Given the description of an element on the screen output the (x, y) to click on. 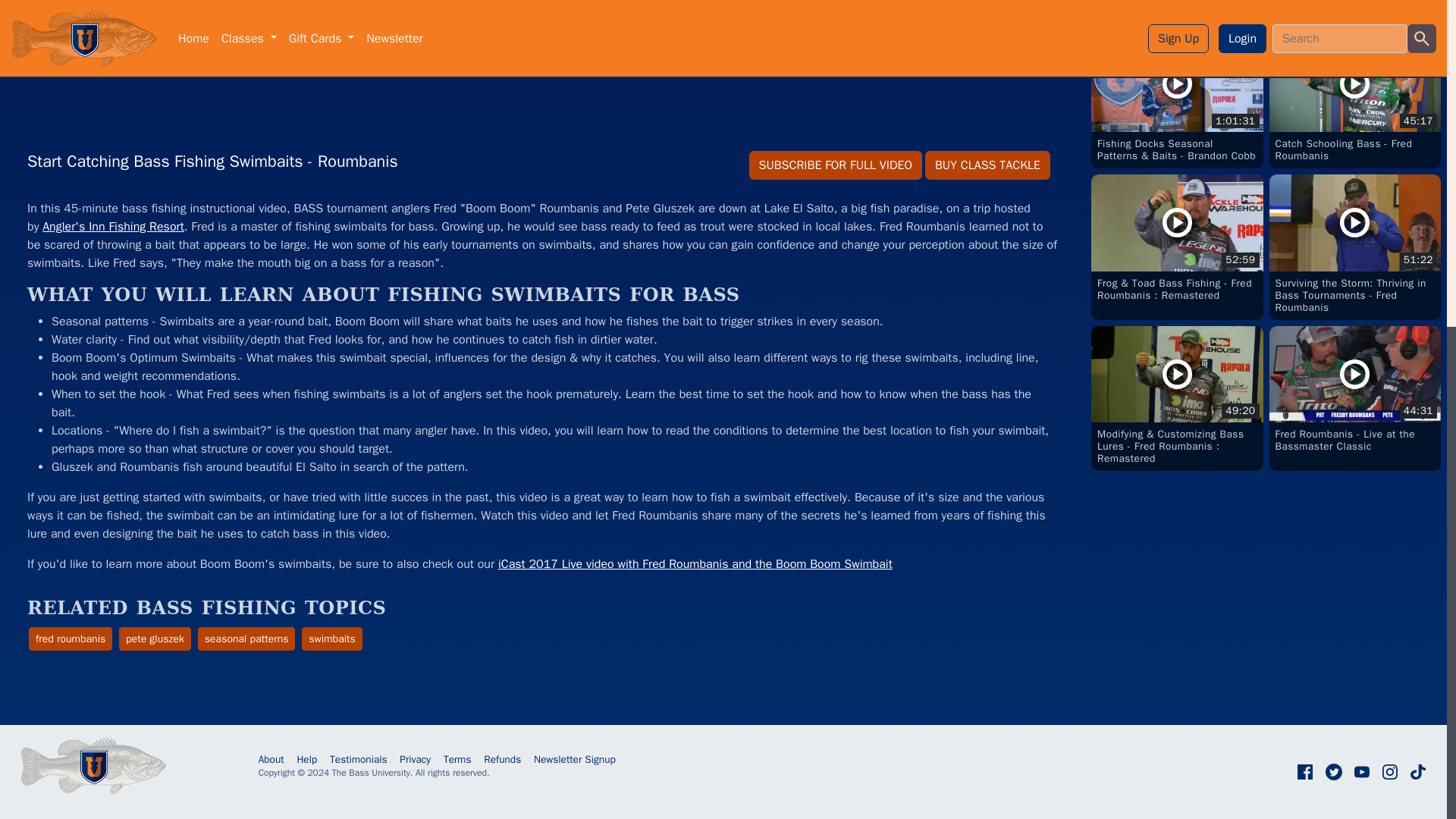
Angler's Inn Fishing Resort (113, 226)
swimbaits (331, 638)
BUY CLASS TACKLE (986, 164)
seasonal patterns (1355, 391)
Play: Video (1355, 102)
Start Catching Bass Fishing Swimbaits - Roumbanis (246, 638)
